Given the description of an element on the screen output the (x, y) to click on. 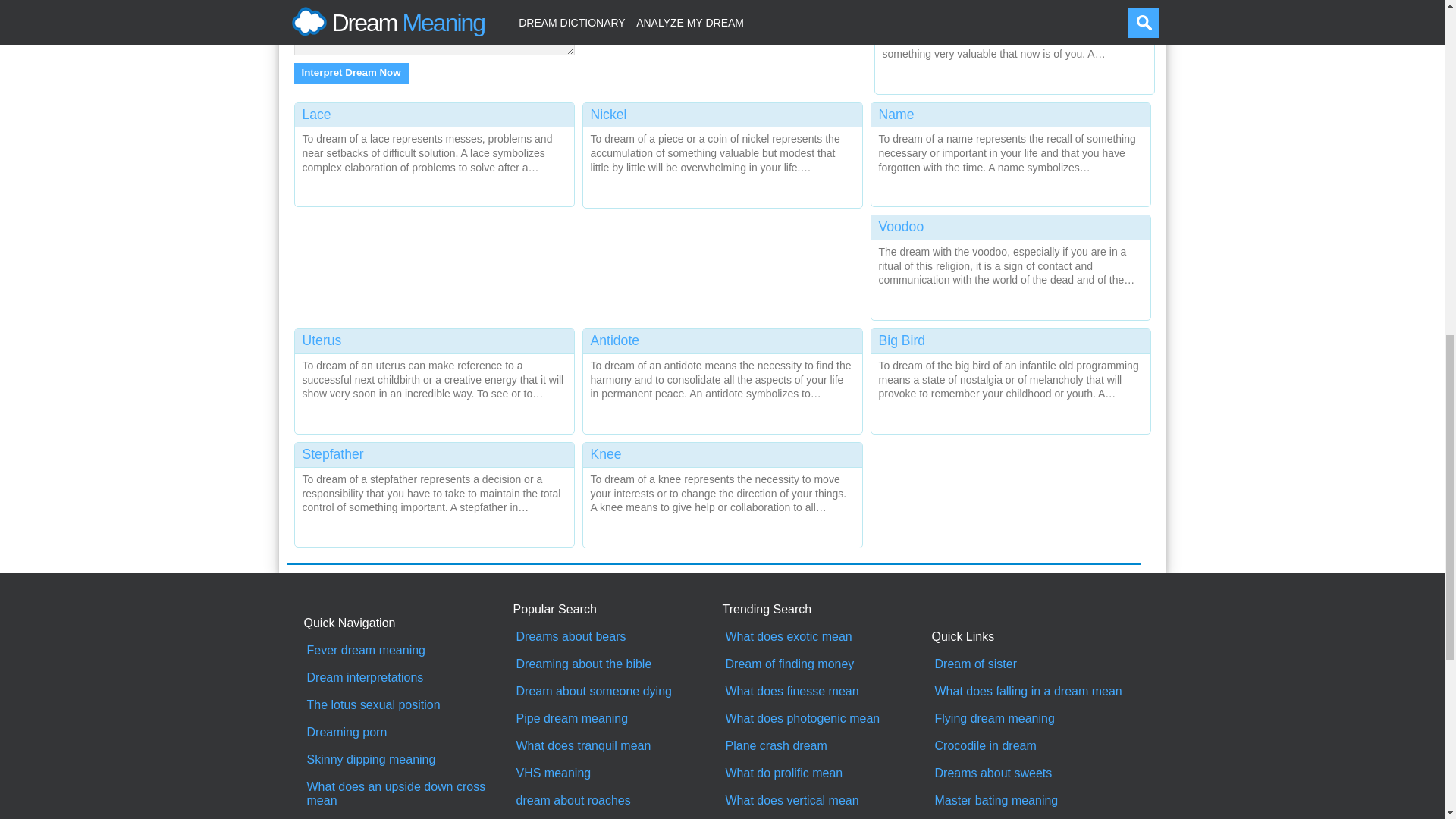
What does an upside down cross mean (407, 793)
The lotus sexual position (407, 704)
Dream interpretations (407, 677)
Interpret Dream Now (351, 73)
Big Bird Dream Meaning (1010, 377)
Dream about someone dying (617, 691)
Lace Dream Meaning (433, 151)
Name Dream Meaning (1010, 151)
Nickel Dream Meaning (721, 151)
Stepfather Dream Meaning (433, 491)
